Given the description of an element on the screen output the (x, y) to click on. 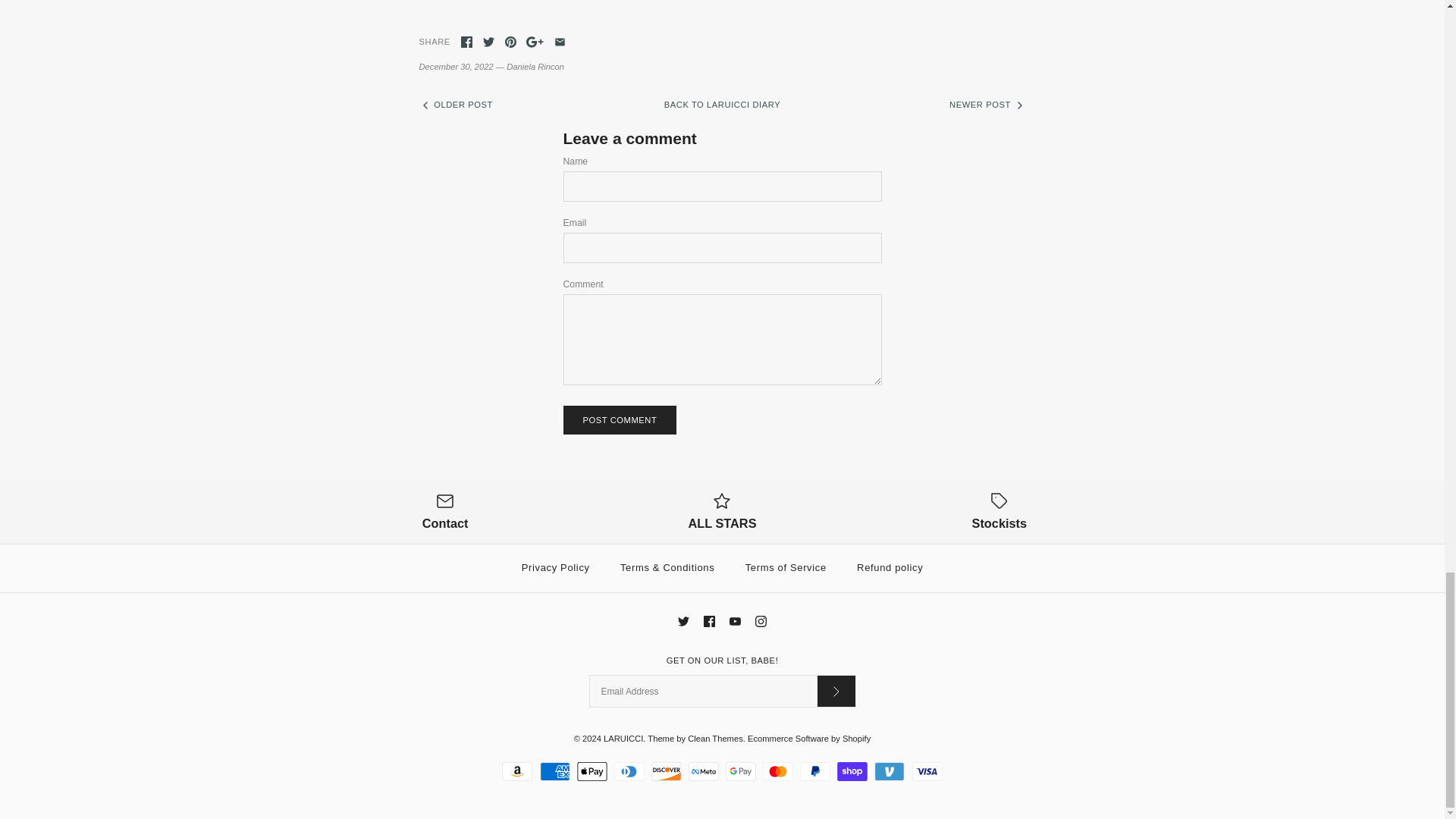
Share on Twitter (489, 41)
Facebook (708, 621)
Youtube (735, 621)
Youtube (735, 621)
Pinterest (510, 41)
Post comment (619, 419)
Email (560, 41)
Twitter (683, 621)
Pin the main image (510, 41)
Share using email (560, 41)
